Given the description of an element on the screen output the (x, y) to click on. 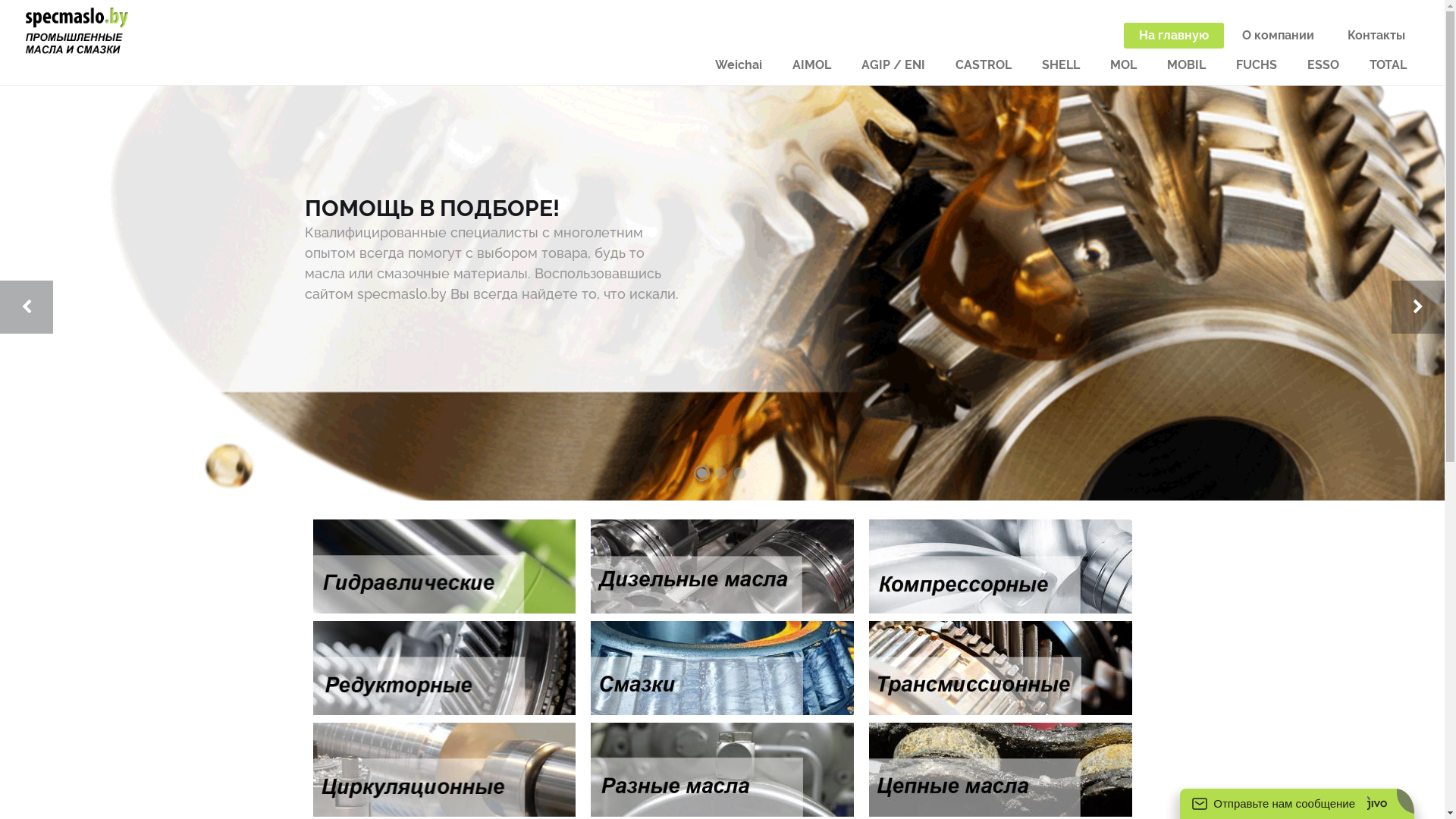
AGIP / ENI Element type: text (893, 65)
MOBIL Element type: text (1185, 65)
MOL Element type: text (1123, 65)
AIMOL Element type: text (811, 65)
Weichai Element type: text (738, 65)
TOTAL Element type: text (1387, 65)
FUCHS Element type: text (1256, 65)
CASTROL Element type: text (983, 65)
SHELL Element type: text (1060, 65)
ESSO Element type: text (1323, 65)
